Given the description of an element on the screen output the (x, y) to click on. 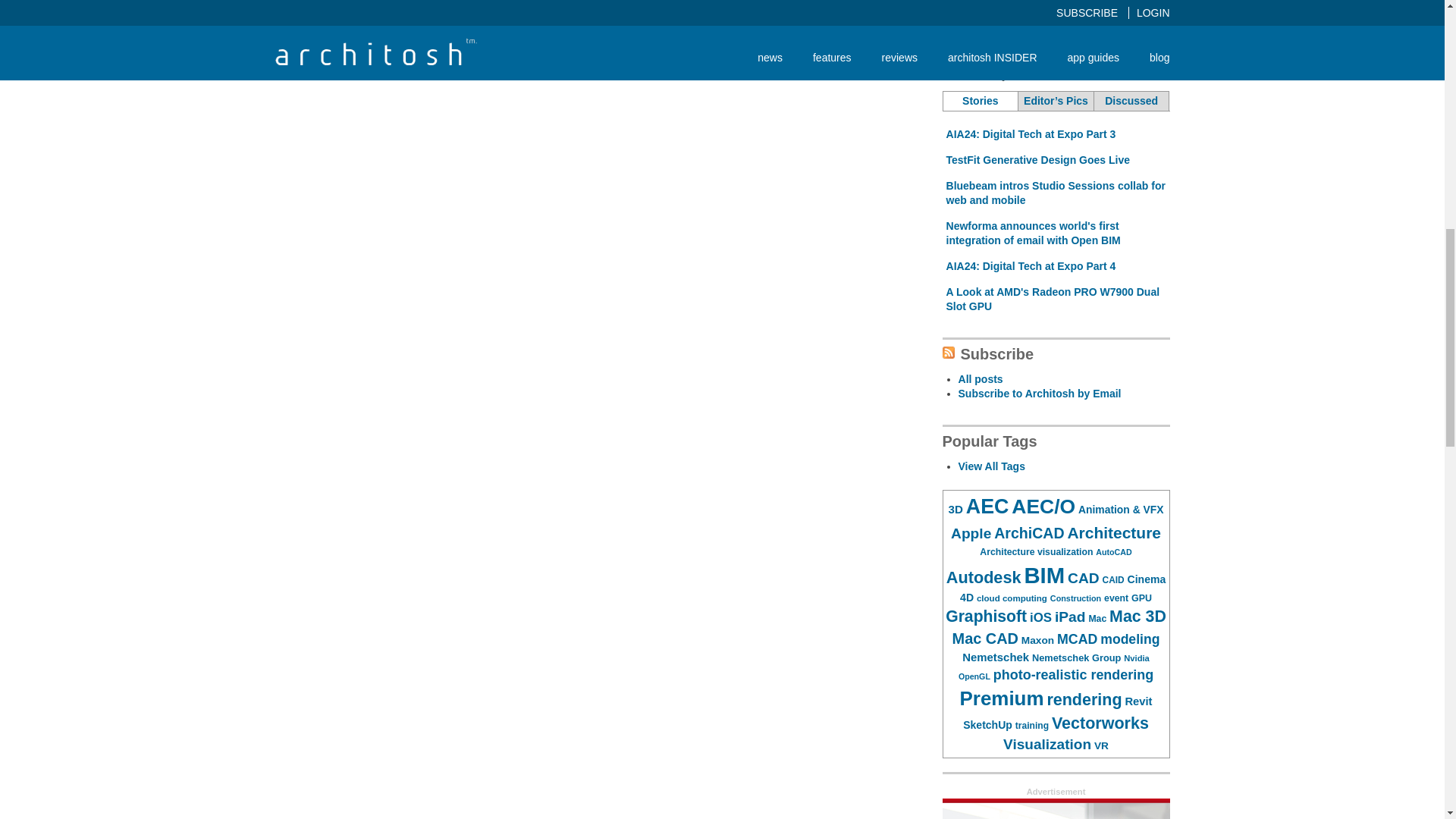
AIA24: Digital Tech at Expo Part 3 (1031, 133)
Stories (980, 101)
Discussed (1131, 101)
AIA24: Digital Tech at Expo Part 4 (1031, 265)
Bluebeam intros Studio Sessions collab for web and mobile (1056, 193)
TestFit Generative Design Goes Live (1037, 159)
A Look at AMD's Radeon PRO W7900 Dual Slot GPU (1053, 298)
